Given the description of an element on the screen output the (x, y) to click on. 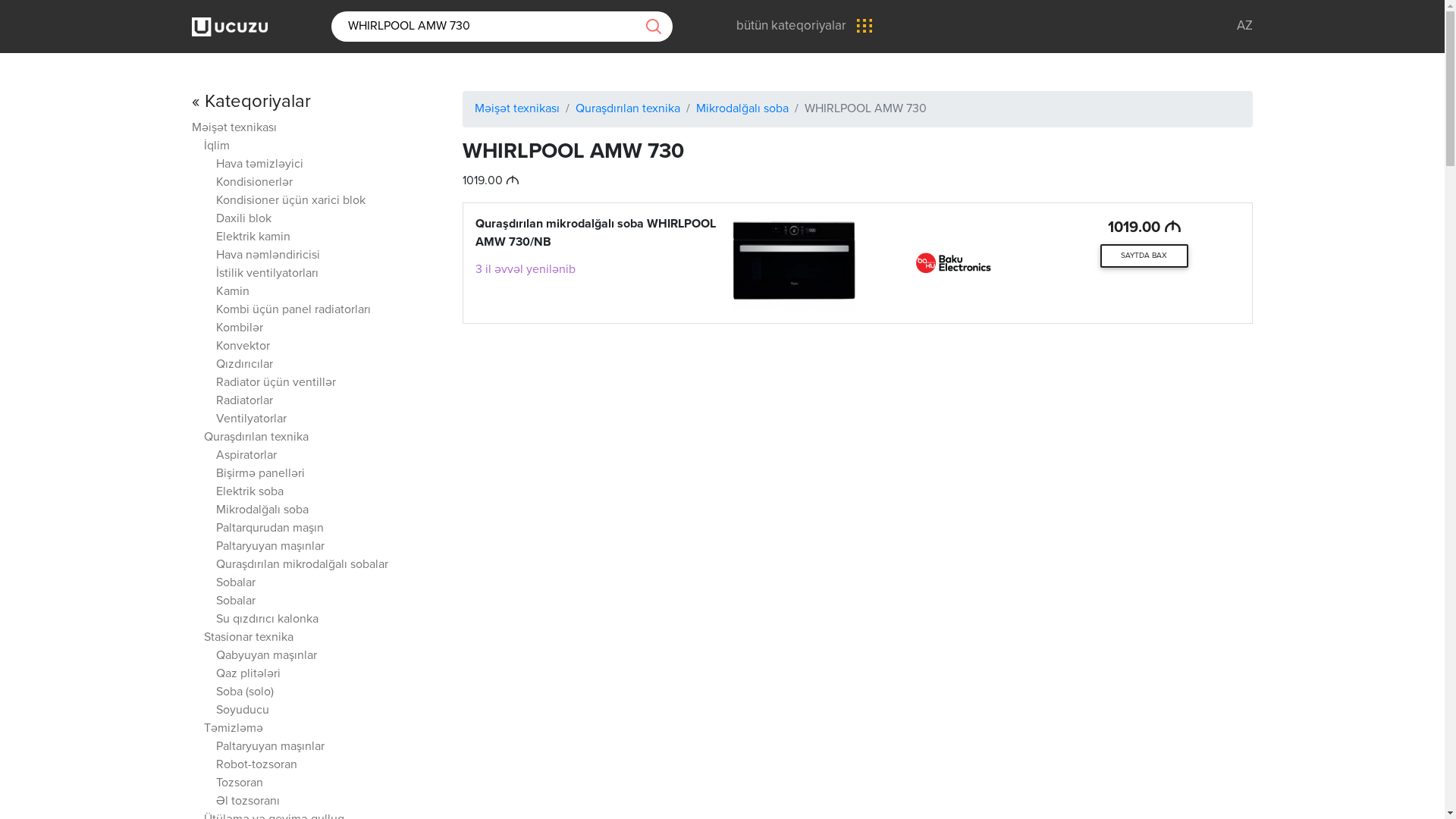
Elektrik kamin Element type: text (253, 237)
Robot-tozsoran Element type: text (256, 765)
Ventilyatorlar Element type: text (251, 419)
Stasionar texnika Element type: text (248, 637)
Aspiratorlar Element type: text (246, 455)
Kamin Element type: text (232, 291)
Konvektor Element type: text (242, 346)
Soyuducu Element type: text (242, 710)
Daxili blok Element type: text (243, 219)
SAYTDA BAX Element type: text (1144, 256)
Sobalar Element type: text (235, 601)
AZ Element type: text (1244, 25)
Soba (solo) Element type: text (244, 692)
Radiatorlar Element type: text (244, 401)
Sobalar Element type: text (235, 583)
Tozsoran Element type: text (239, 783)
Elektrik soba Element type: text (249, 492)
